Given the description of an element on the screen output the (x, y) to click on. 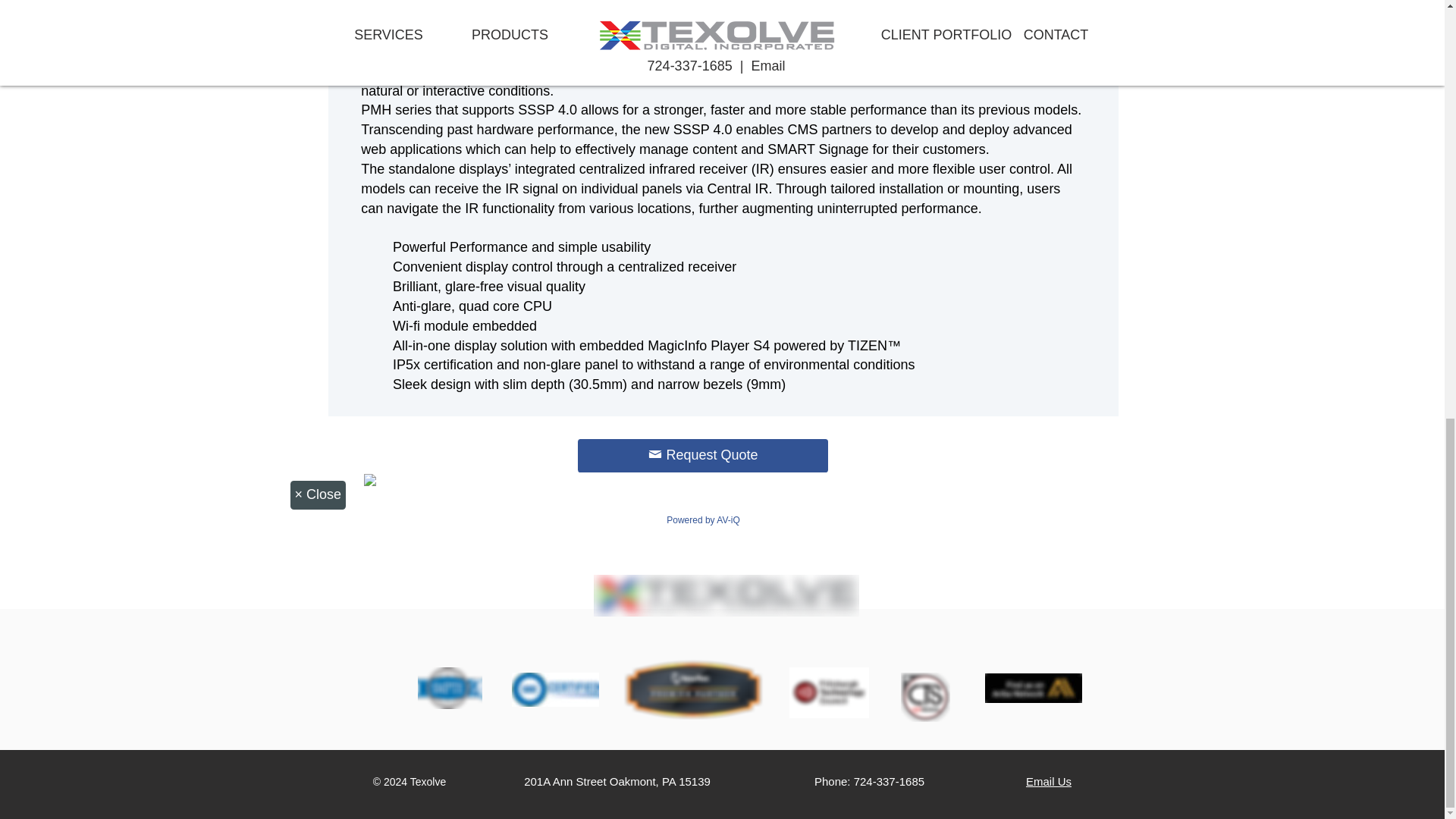
Email Us (1048, 780)
201A Ann Street Oakmont, PA 15139 (617, 780)
Powered by AV-iQ (702, 520)
